Given the description of an element on the screen output the (x, y) to click on. 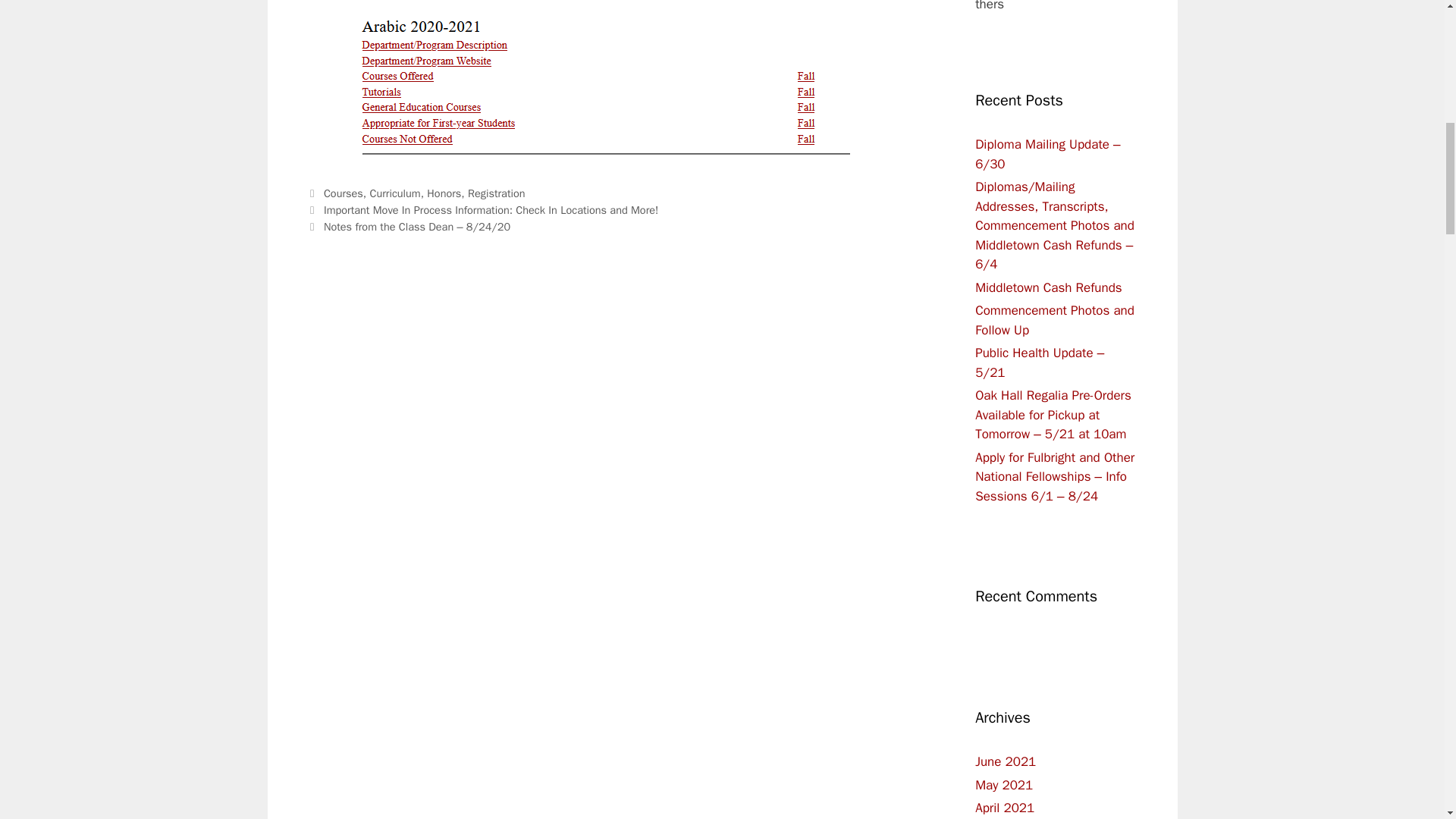
Middletown Cash Refunds (1048, 287)
Honors (443, 192)
Commencement Photos and Follow Up (1054, 320)
Curriculum (394, 192)
Registration (496, 192)
Courses (342, 192)
